Given the description of an element on the screen output the (x, y) to click on. 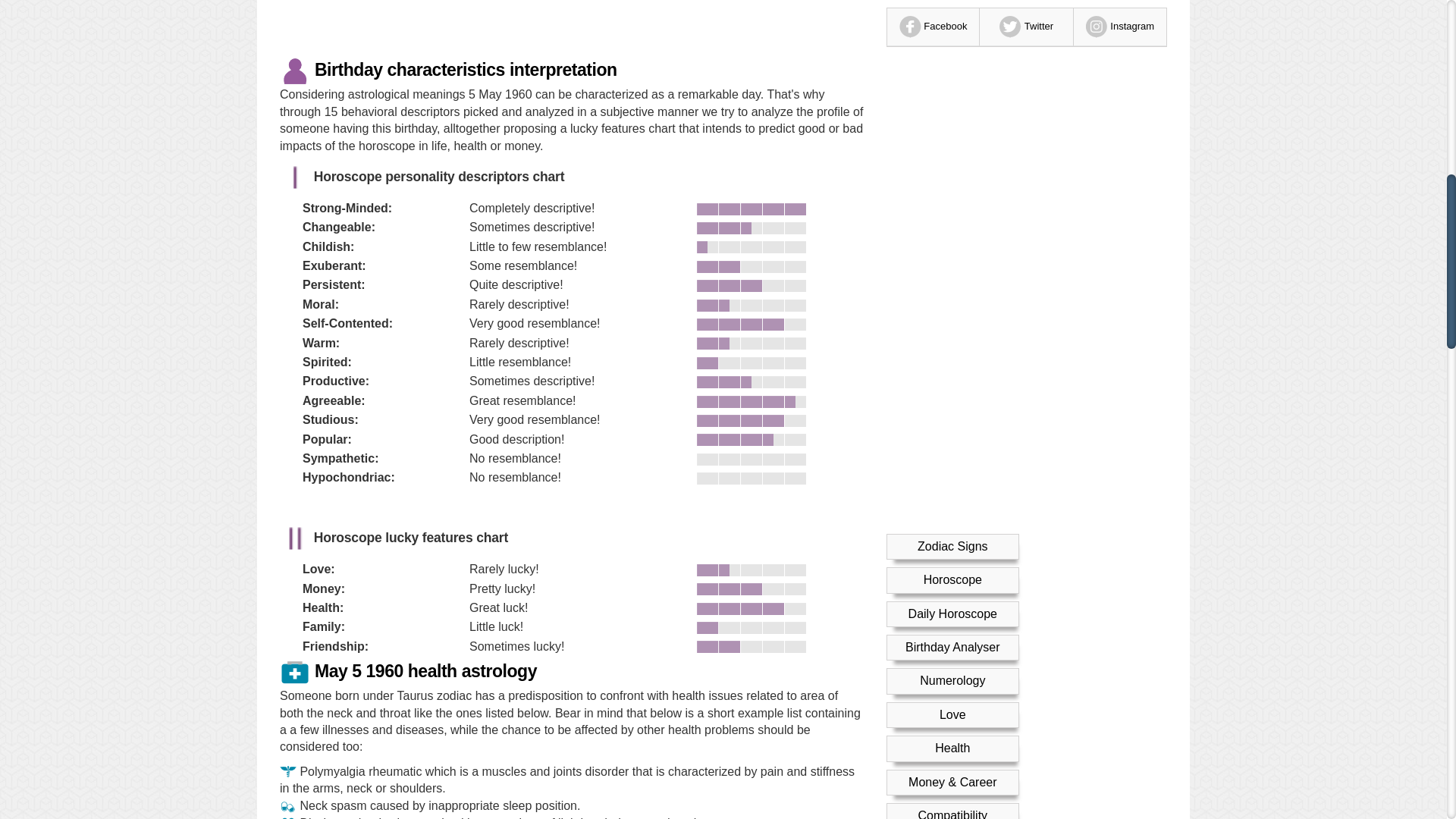
Birthdays (952, 107)
Astrology (952, 73)
Compatibility (952, 40)
Advertisement (571, 25)
4 Elements (952, 141)
